Given the description of an element on the screen output the (x, y) to click on. 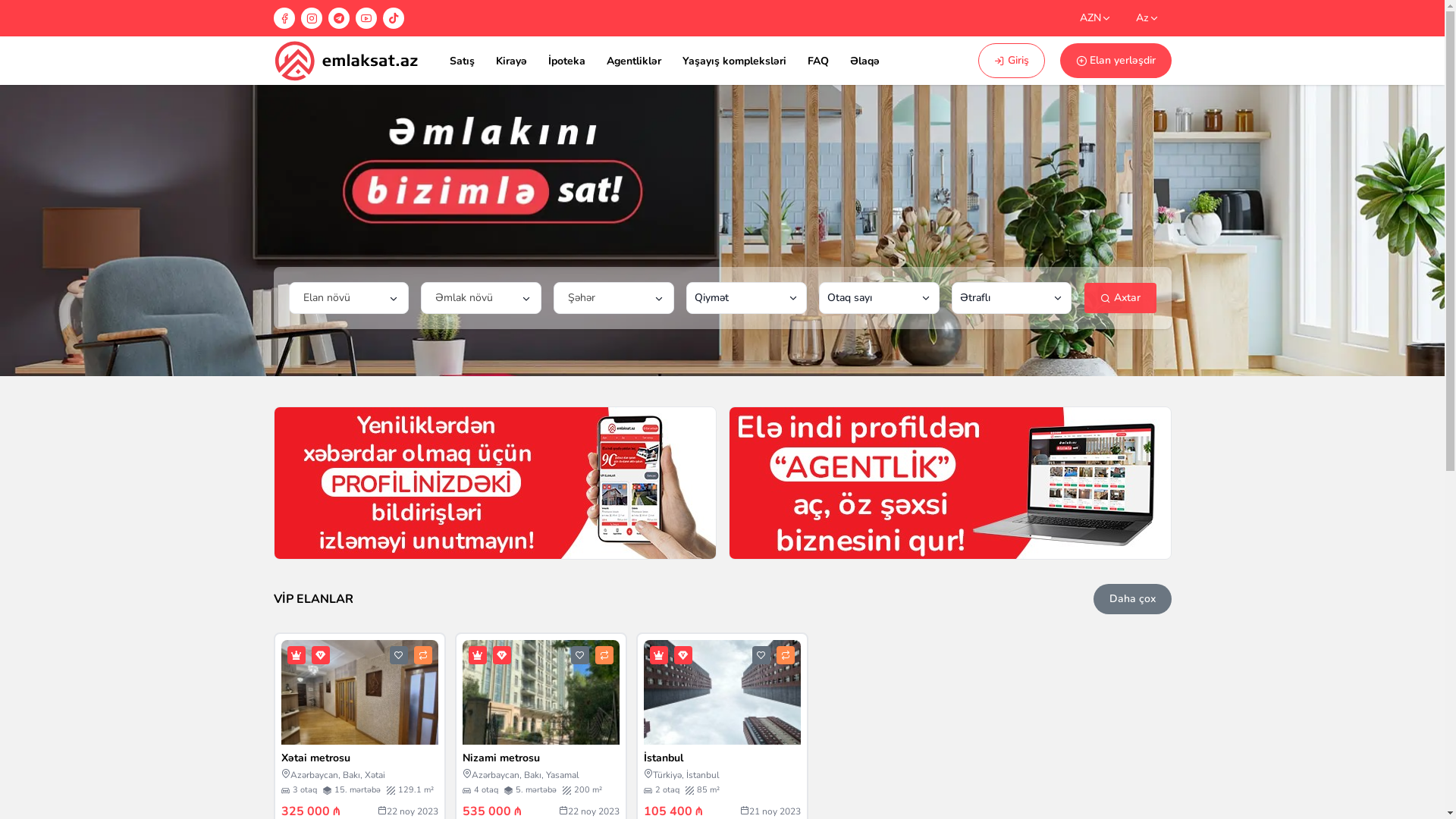
Telegram Element type: hover (337, 17)
Axtar Element type: text (1120, 297)
Instagram Element type: hover (310, 17)
FAQ Element type: text (817, 61)
Facebook Element type: hover (283, 17)
AZN Element type: text (1095, 18)
Youtube Element type: hover (365, 17)
Az Element type: text (1147, 18)
Tiktok Element type: hover (392, 17)
Emlaksat.Az Element type: hover (345, 60)
